Given the description of an element on the screen output the (x, y) to click on. 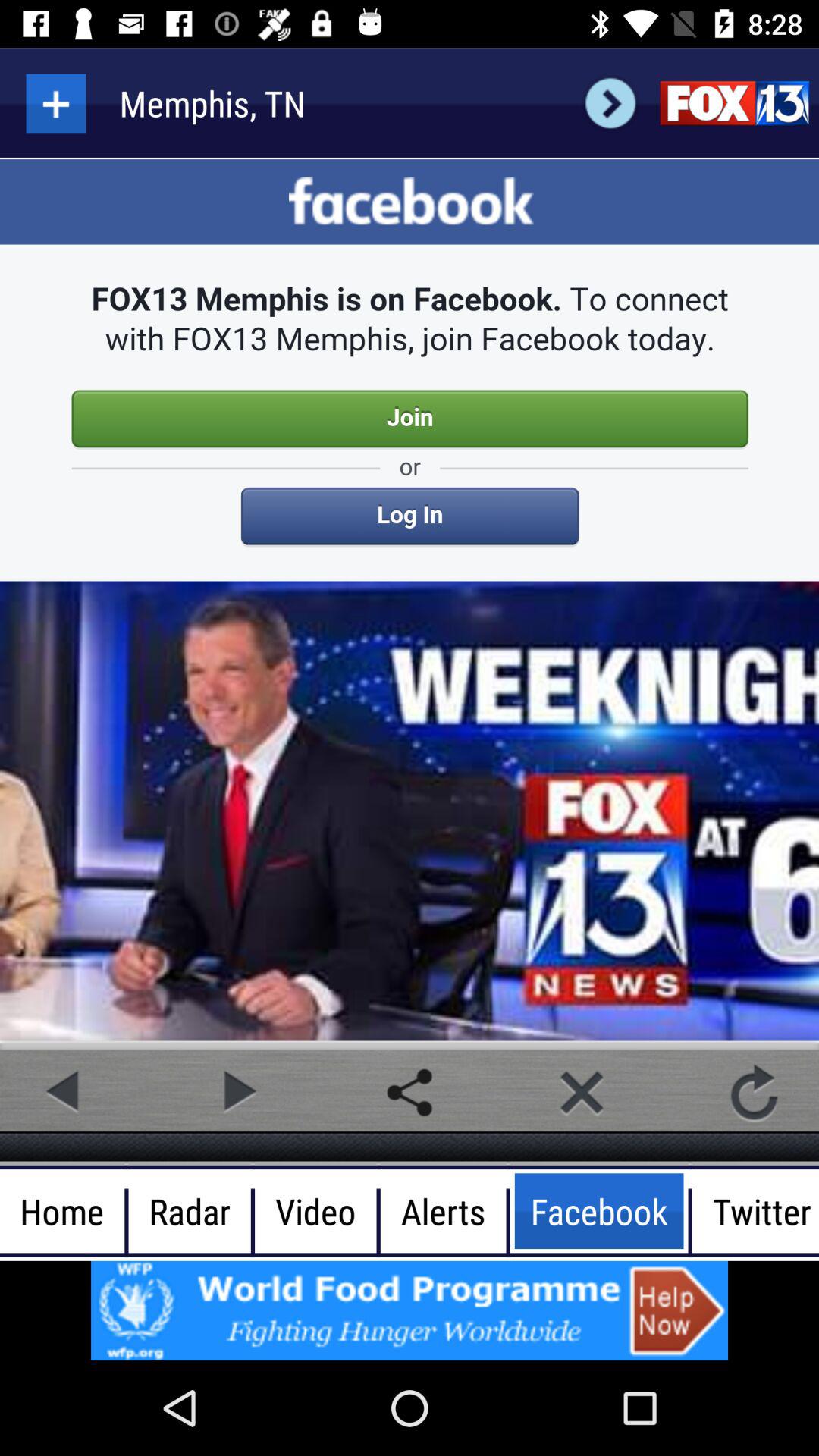
next (237, 1092)
